Given the description of an element on the screen output the (x, y) to click on. 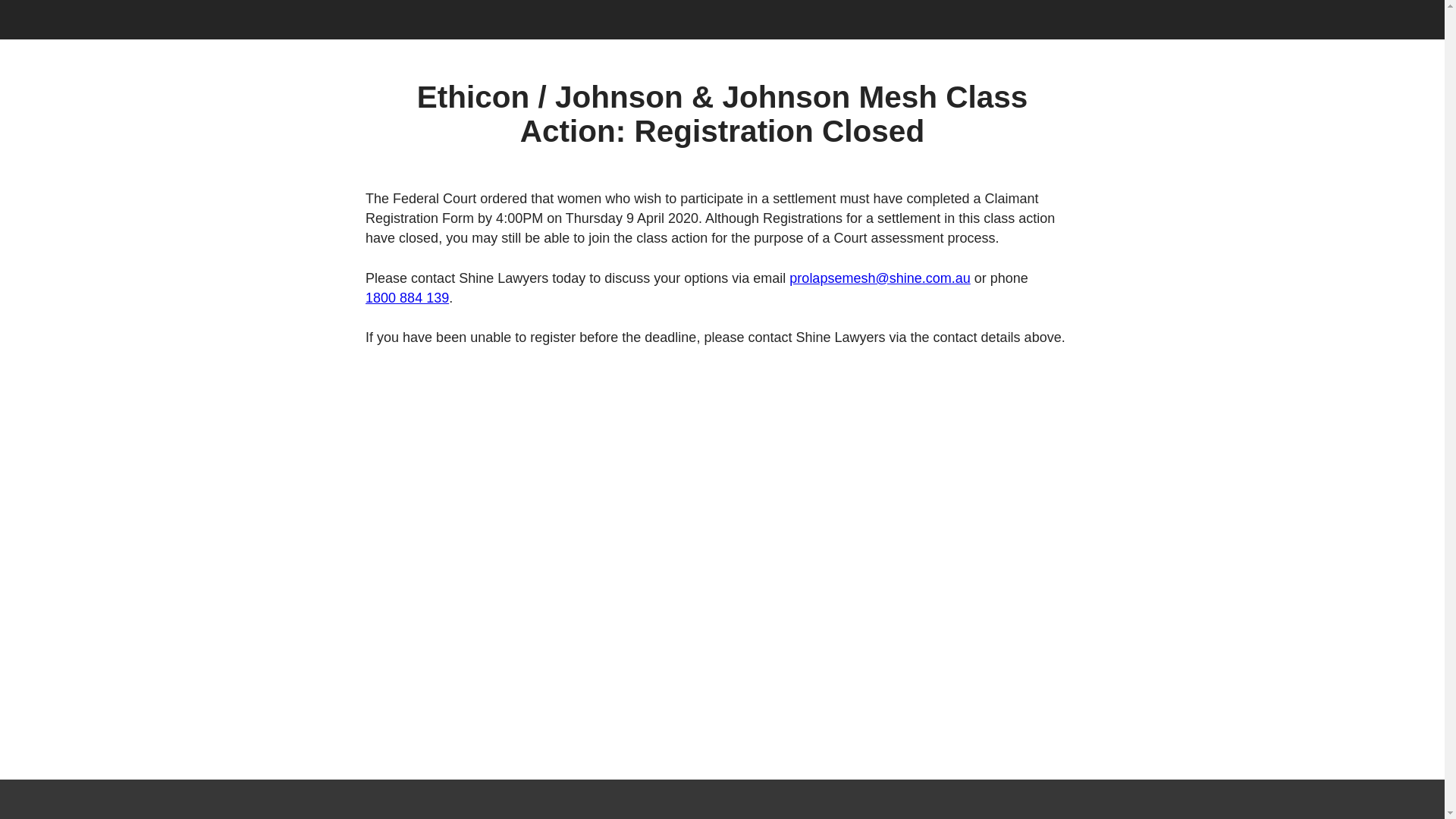
prolapsemesh@shine.com.au Element type: text (879, 277)
1800 884 139 Element type: text (406, 297)
